Given the description of an element on the screen output the (x, y) to click on. 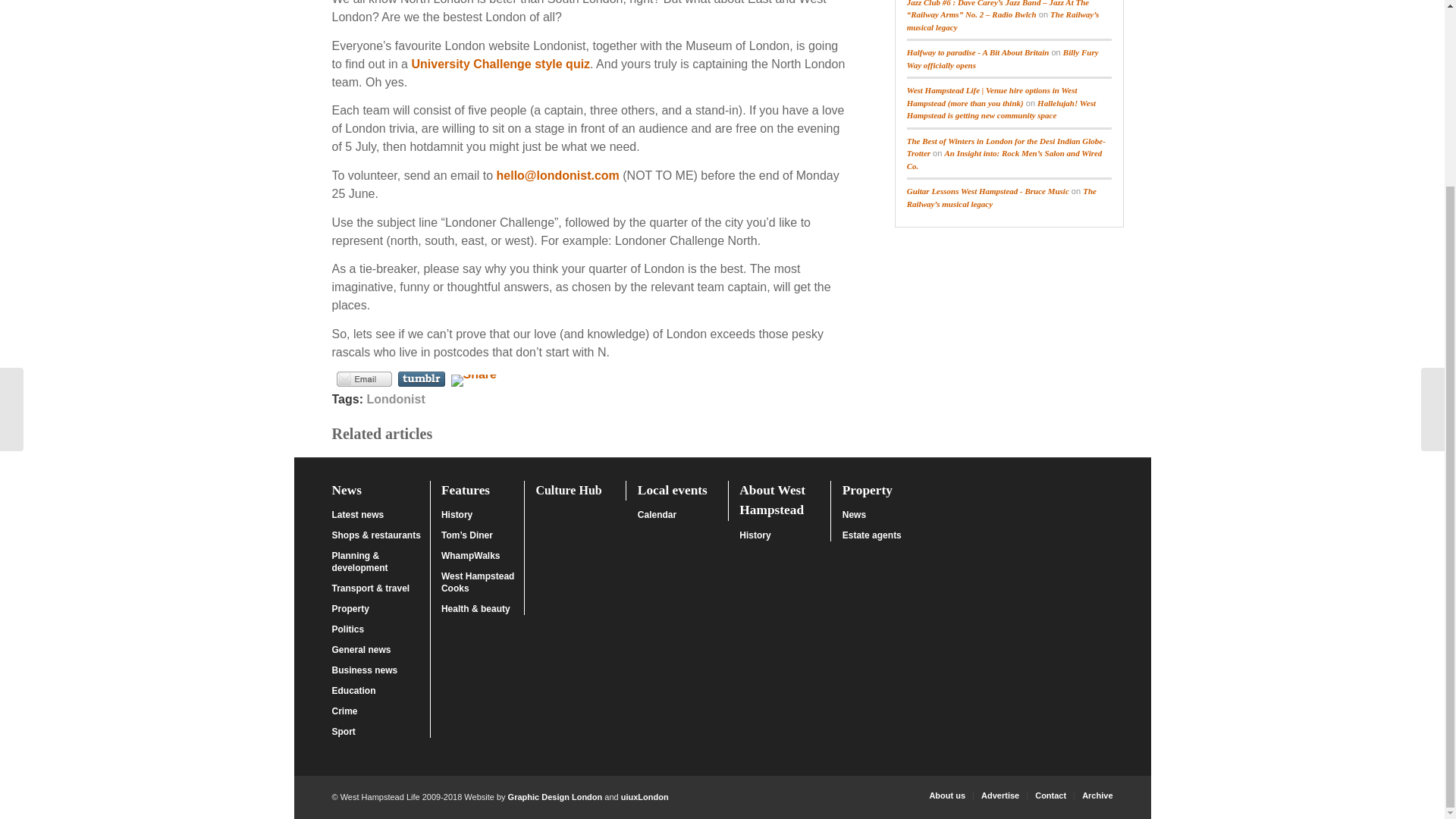
Share via email (363, 378)
Share on Tumblr (420, 378)
